Given the description of an element on the screen output the (x, y) to click on. 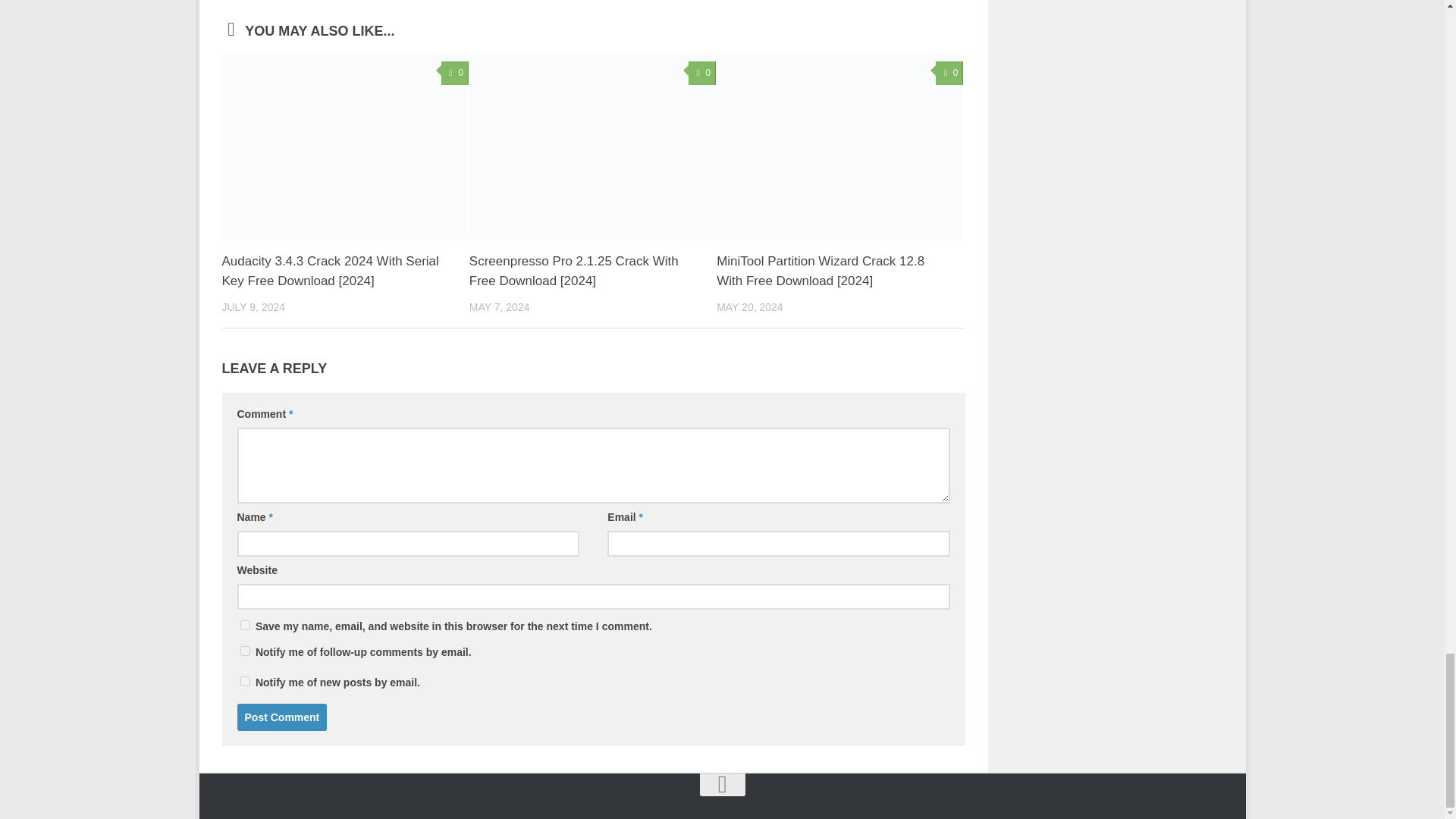
Post Comment (280, 717)
subscribe (244, 681)
yes (244, 624)
subscribe (244, 651)
